Given the description of an element on the screen output the (x, y) to click on. 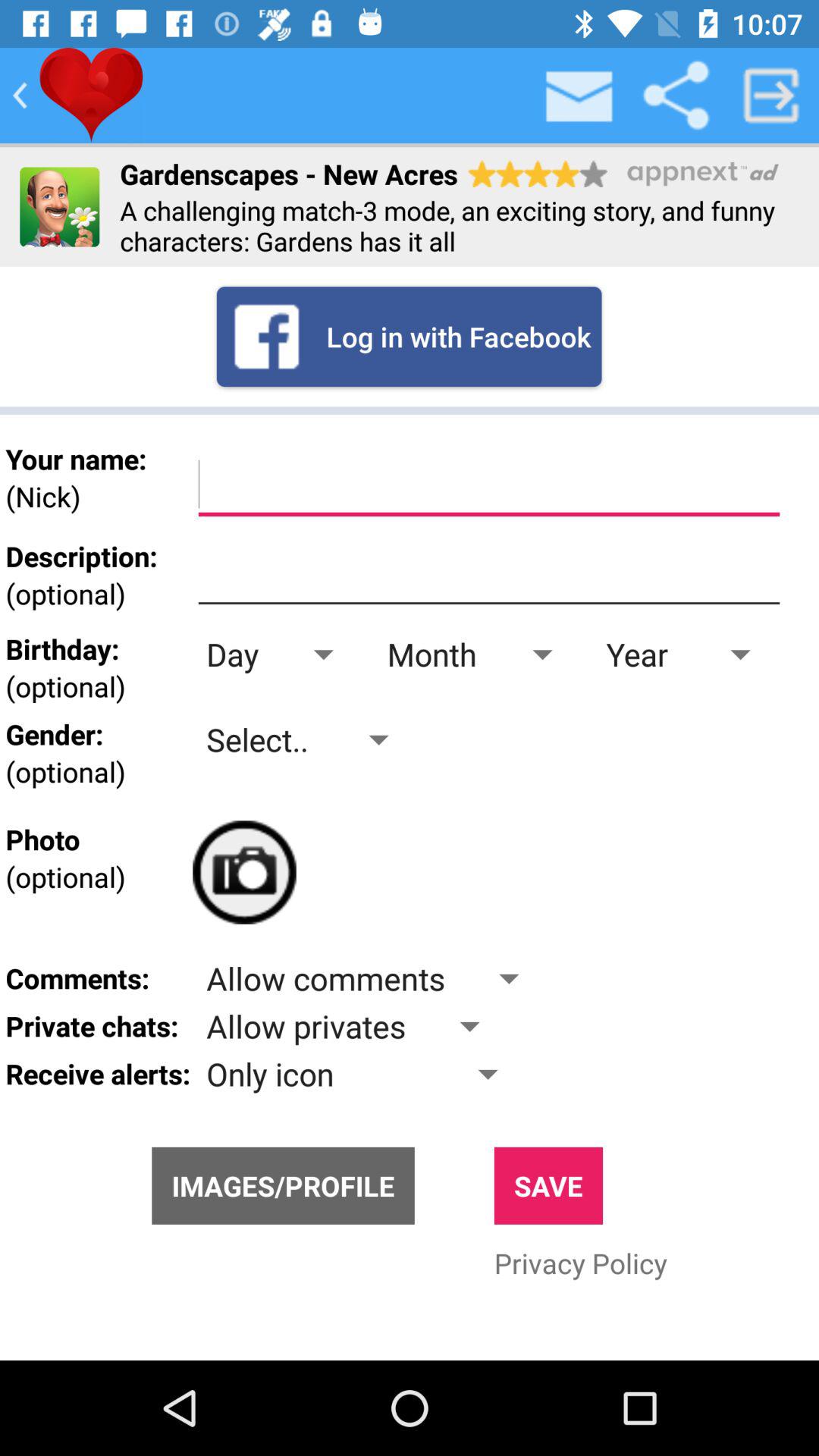
enter description (488, 574)
